Given the description of an element on the screen output the (x, y) to click on. 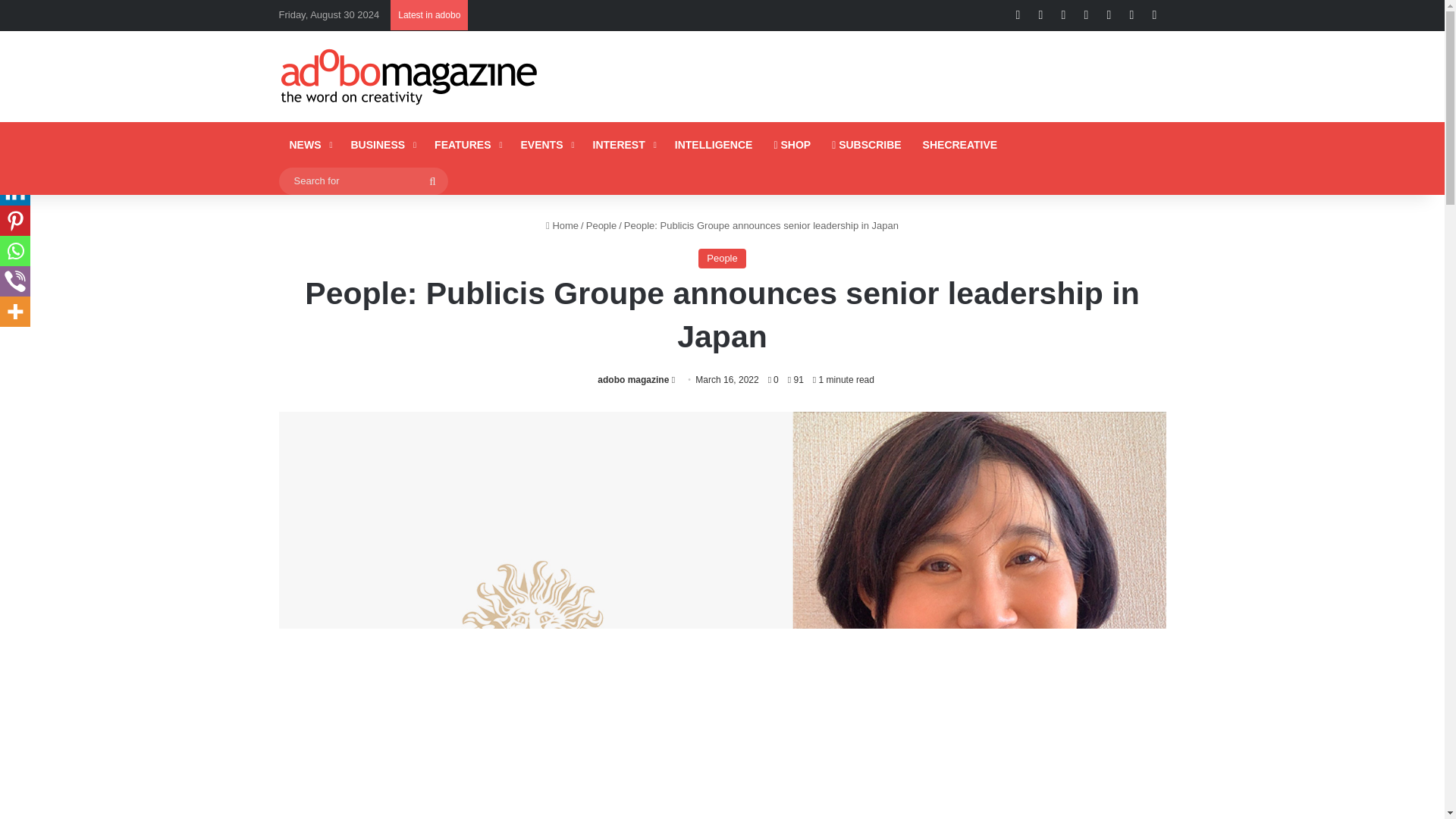
Search for (363, 180)
NEWS (309, 144)
FEATURES (466, 144)
BUSINESS (381, 144)
adobo Magazine Online (409, 76)
adobo magazine (632, 379)
EVENTS (544, 144)
INTEREST (622, 144)
